Given the description of an element on the screen output the (x, y) to click on. 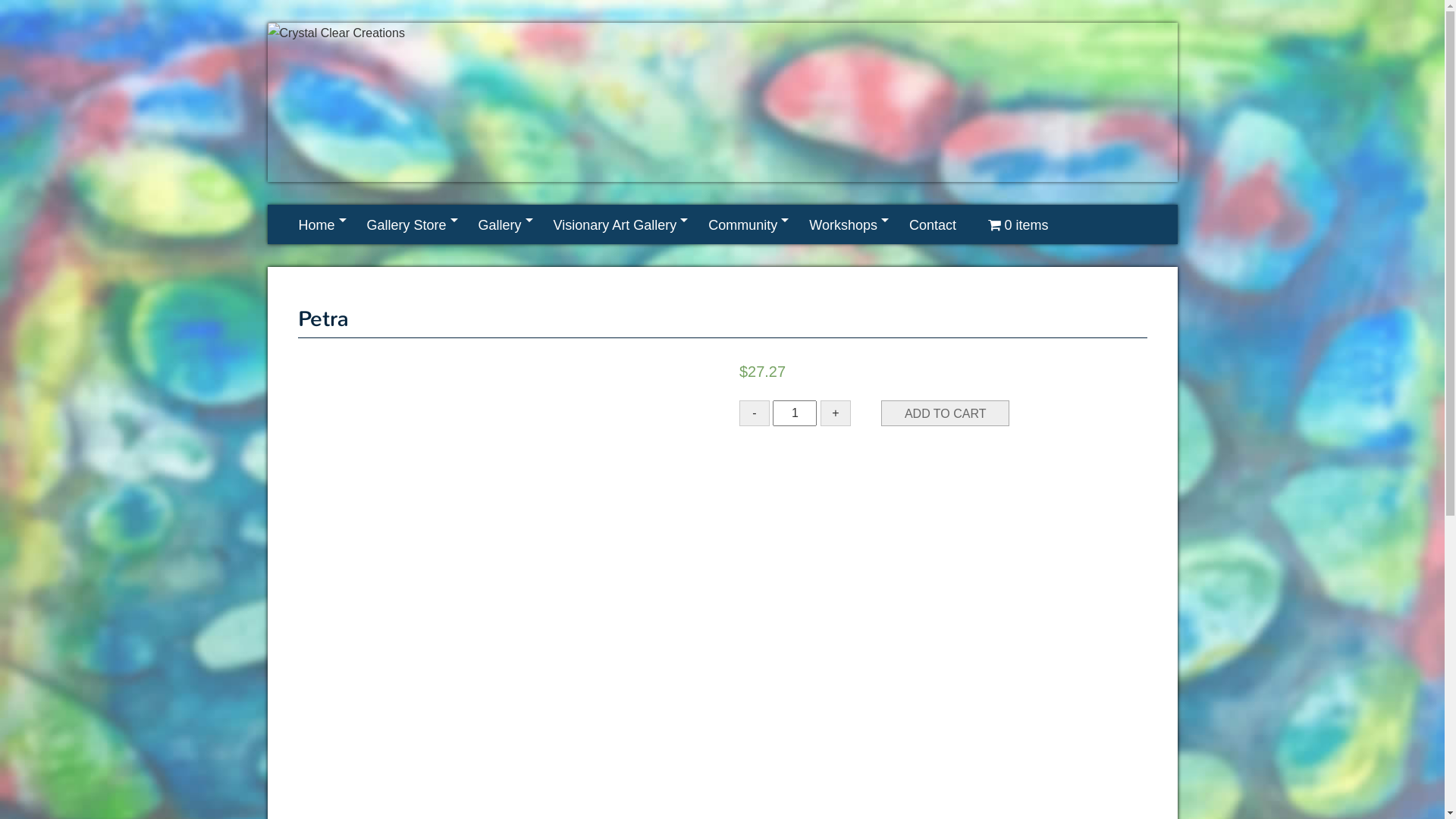
Contact Element type: text (932, 224)
Qty Element type: hover (794, 413)
0 items Element type: text (1018, 224)
Workshops Element type: text (843, 224)
Gallery Element type: text (499, 224)
ADD TO CART Element type: text (945, 413)
Visionary Art Gallery Element type: text (615, 224)
Home Element type: text (316, 224)
Community Element type: text (742, 224)
Gallery Store Element type: text (406, 224)
